Given the description of an element on the screen output the (x, y) to click on. 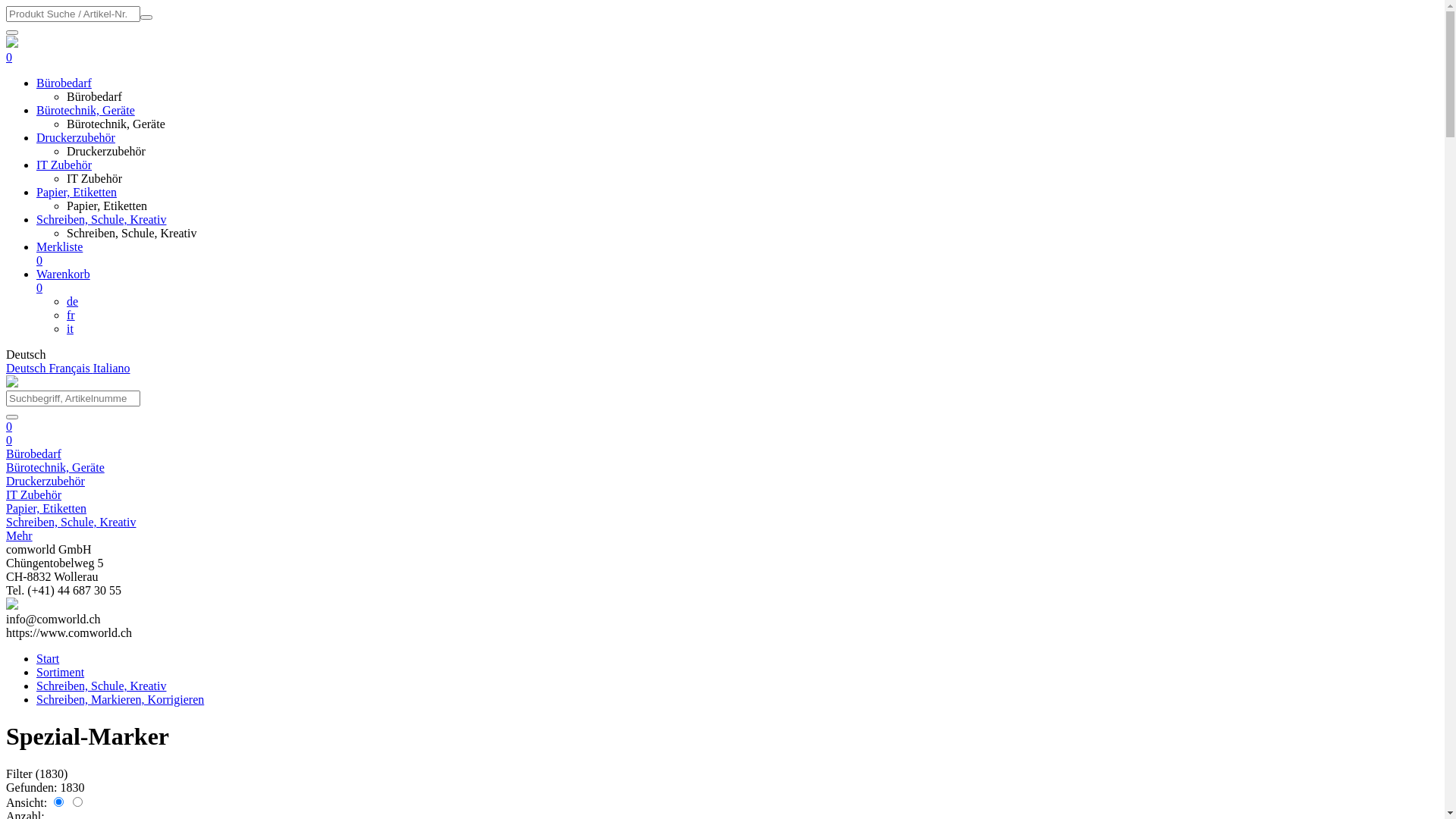
Warenkorb
0 Element type: text (737, 280)
Mehr Element type: text (19, 535)
Sortiment Element type: text (60, 671)
0 Element type: text (9, 426)
Schreiben, Markieren, Korrigieren Element type: text (119, 699)
Italiano Element type: text (111, 367)
de Element type: text (72, 300)
Merkliste
0 Element type: text (737, 253)
Papier, Etiketten Element type: text (46, 508)
Start Element type: text (47, 658)
Schreiben, Schule, Kreativ Element type: text (101, 219)
Papier, Etiketten Element type: text (106, 205)
Schreiben, Schule, Kreativ Element type: text (71, 521)
it Element type: text (69, 328)
Papier, Etiketten Element type: text (76, 191)
fr Element type: text (70, 314)
0 Element type: text (9, 56)
Schreiben, Schule, Kreativ Element type: text (101, 685)
Deutsch Element type: text (27, 367)
0 Element type: text (9, 439)
Schreiben, Schule, Kreativ Element type: text (131, 232)
